Given the description of an element on the screen output the (x, y) to click on. 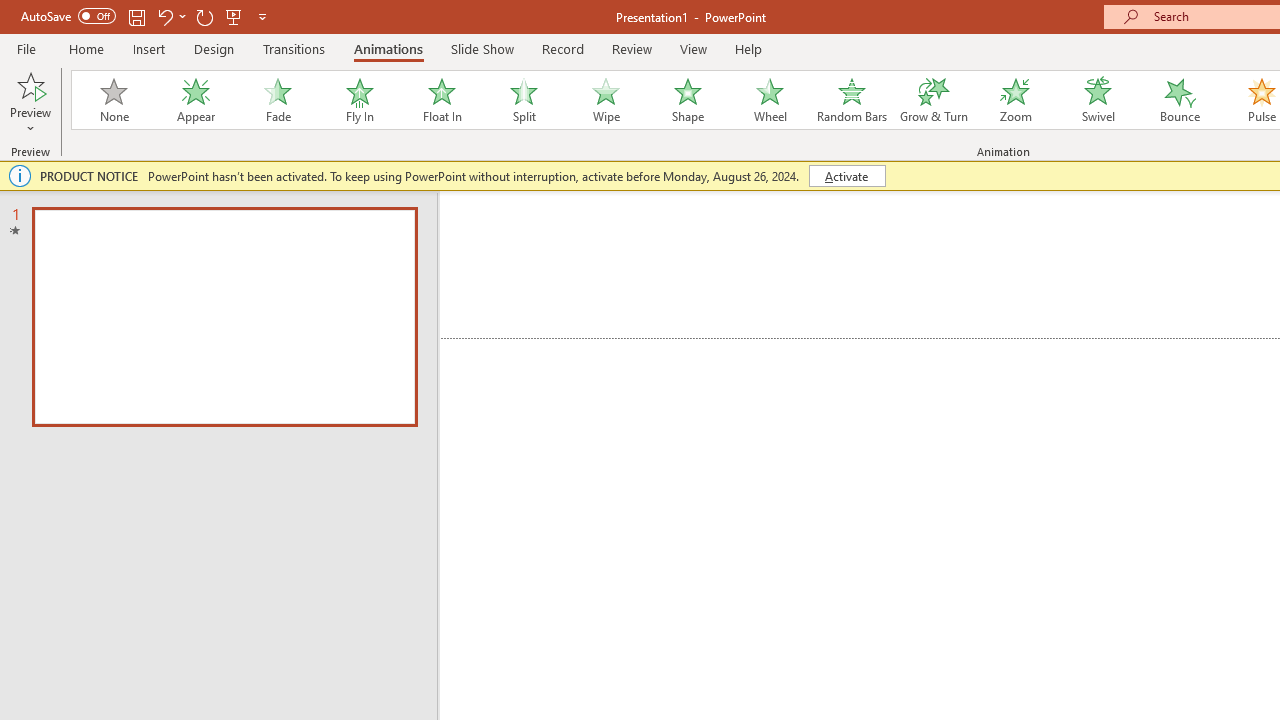
Fly In (359, 100)
Wheel (770, 100)
None (113, 100)
